Given the description of an element on the screen output the (x, y) to click on. 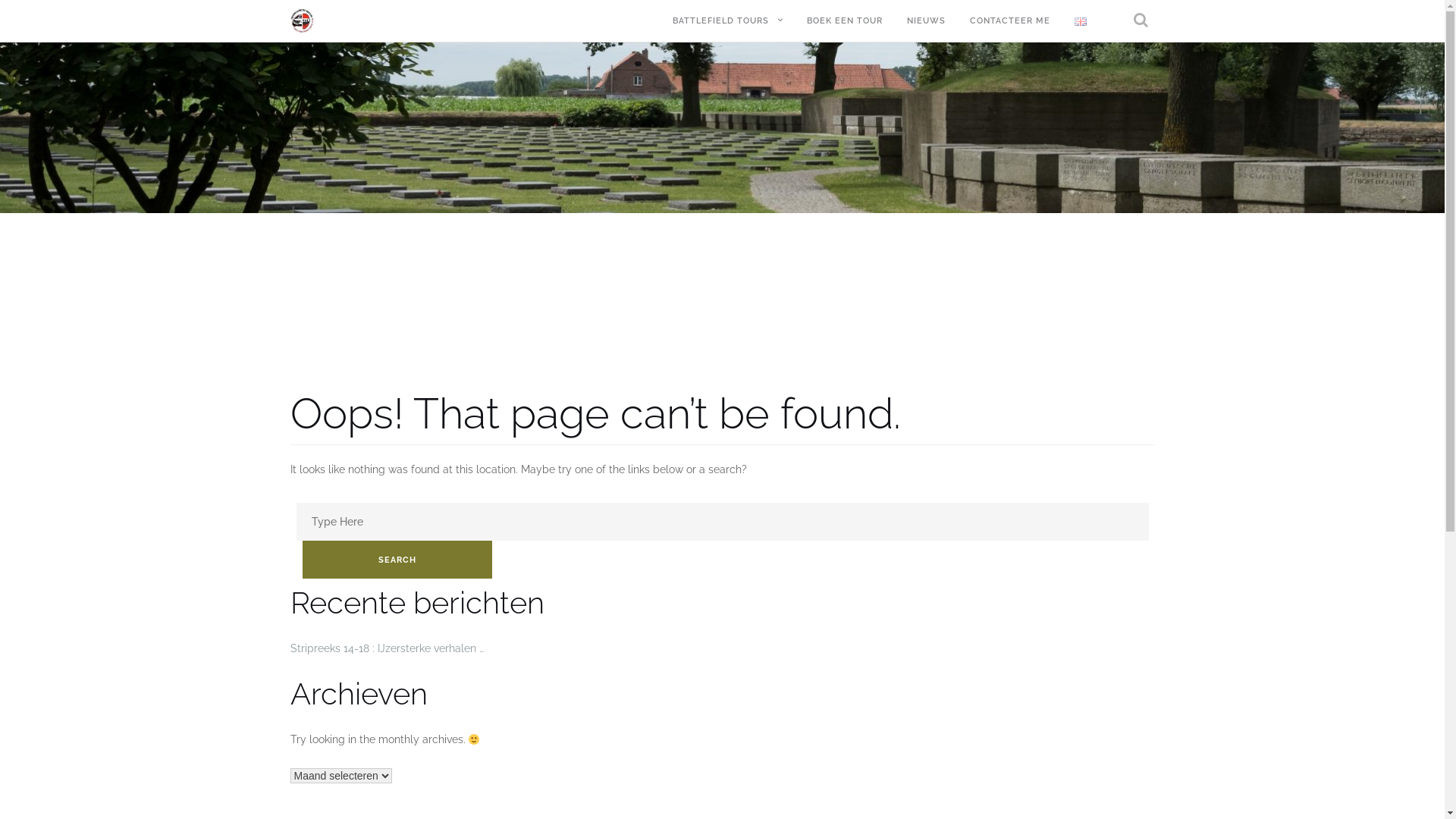
Search Element type: text (396, 559)
BATTLEFIELD TOURS Element type: text (719, 21)
NIEUWS Element type: text (925, 21)
BOEK EEN TOUR Element type: text (844, 21)
Search Element type: text (1130, 72)
CONTACTEER ME Element type: text (1009, 21)
